Given the description of an element on the screen output the (x, y) to click on. 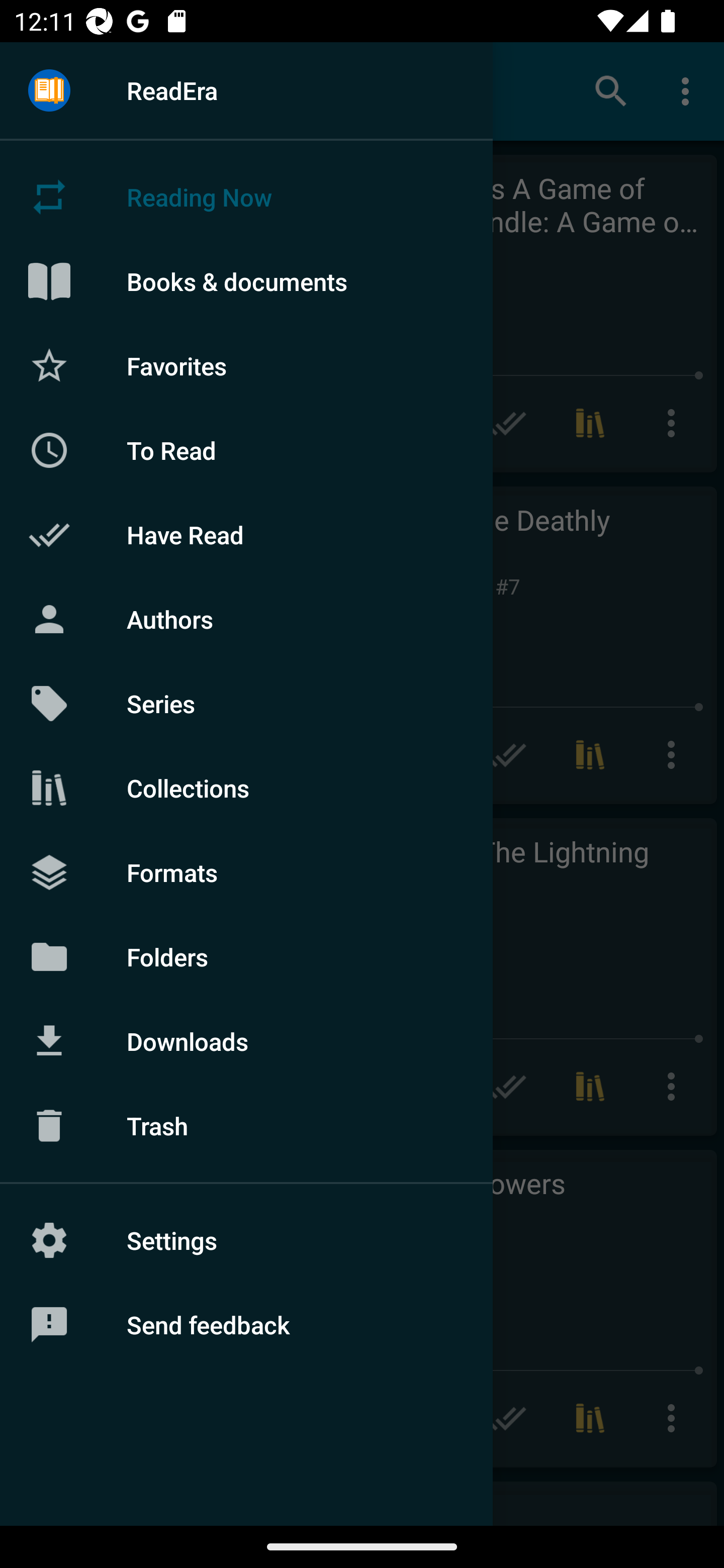
Menu (49, 91)
ReadEra (246, 89)
Search books & documents (611, 90)
More options (688, 90)
Reading Now (246, 197)
Books & documents (246, 281)
Favorites (246, 365)
To Read (246, 449)
Have Read (246, 534)
Authors (246, 619)
Series (246, 703)
Collections (246, 787)
Formats (246, 871)
Folders (246, 956)
Downloads (246, 1040)
Trash (246, 1125)
Settings (246, 1239)
Send feedback (246, 1324)
